Given the description of an element on the screen output the (x, y) to click on. 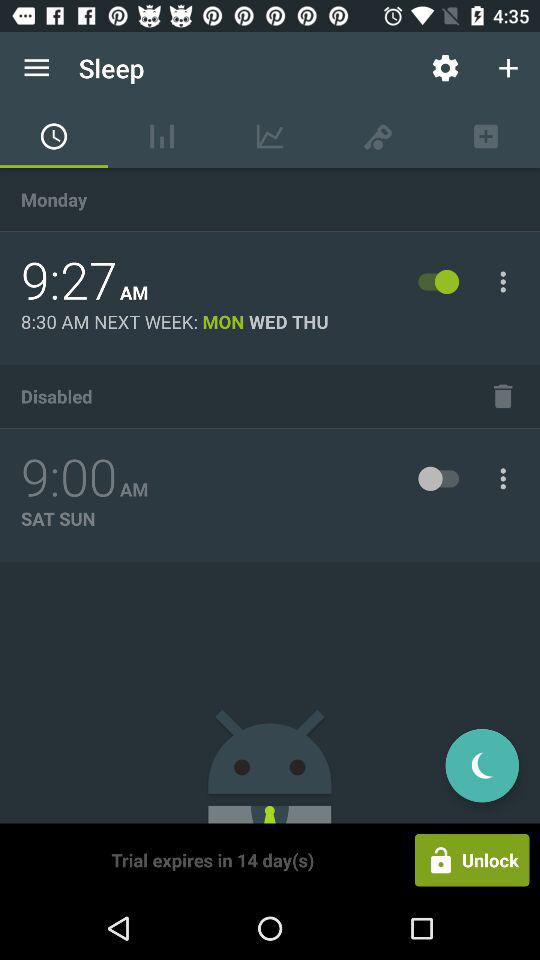
delete alarm (503, 396)
